Given the description of an element on the screen output the (x, y) to click on. 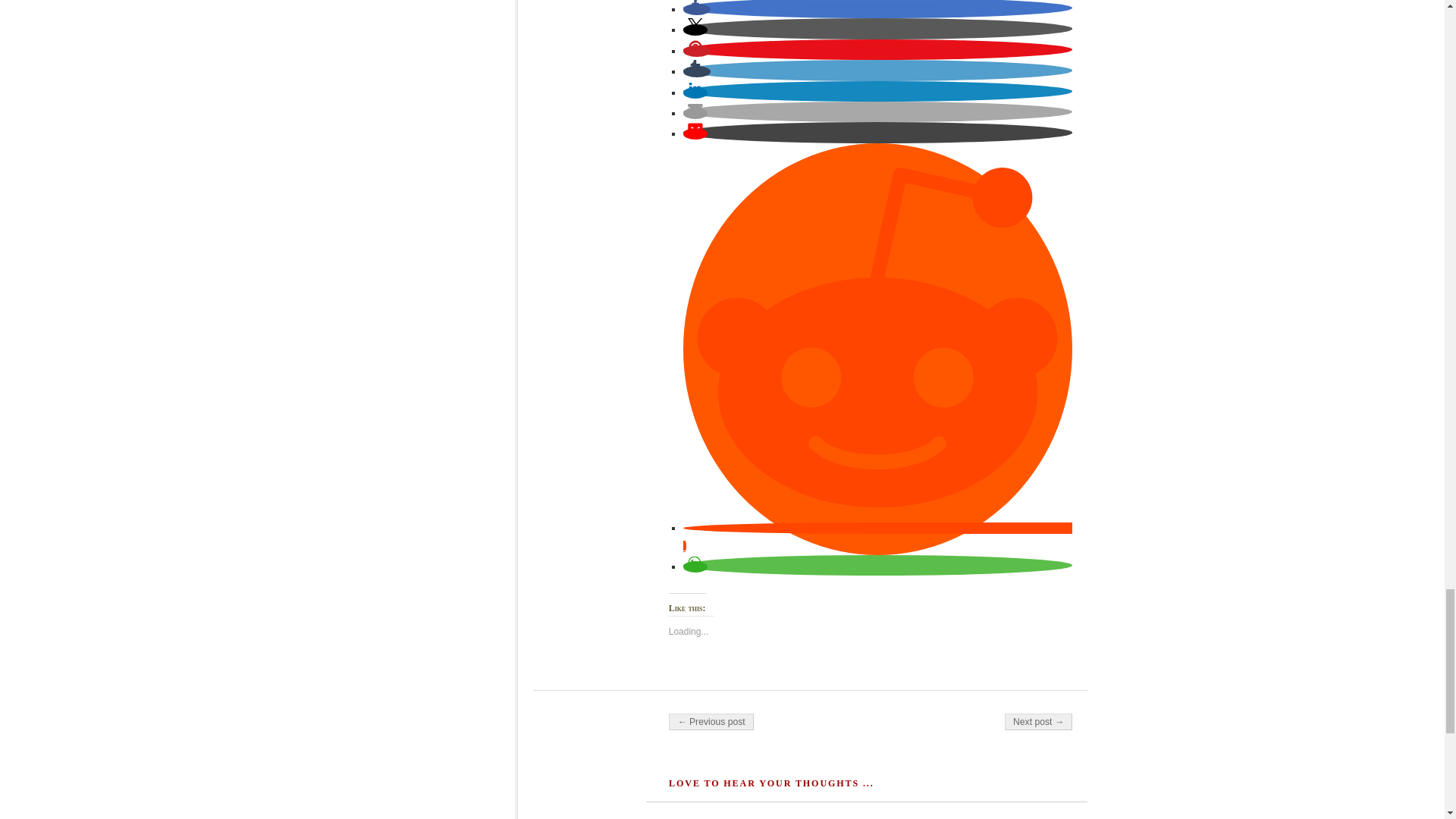
Share on Whatsapp (694, 566)
Share on LinkedIn (694, 92)
Pin it on Pinterest (696, 50)
Share on Facebook (696, 9)
Save to Pocket (694, 133)
Share on tumblr (696, 71)
Share on X (694, 30)
Share on Reddit (876, 536)
Send by email (694, 112)
